Given the description of an element on the screen output the (x, y) to click on. 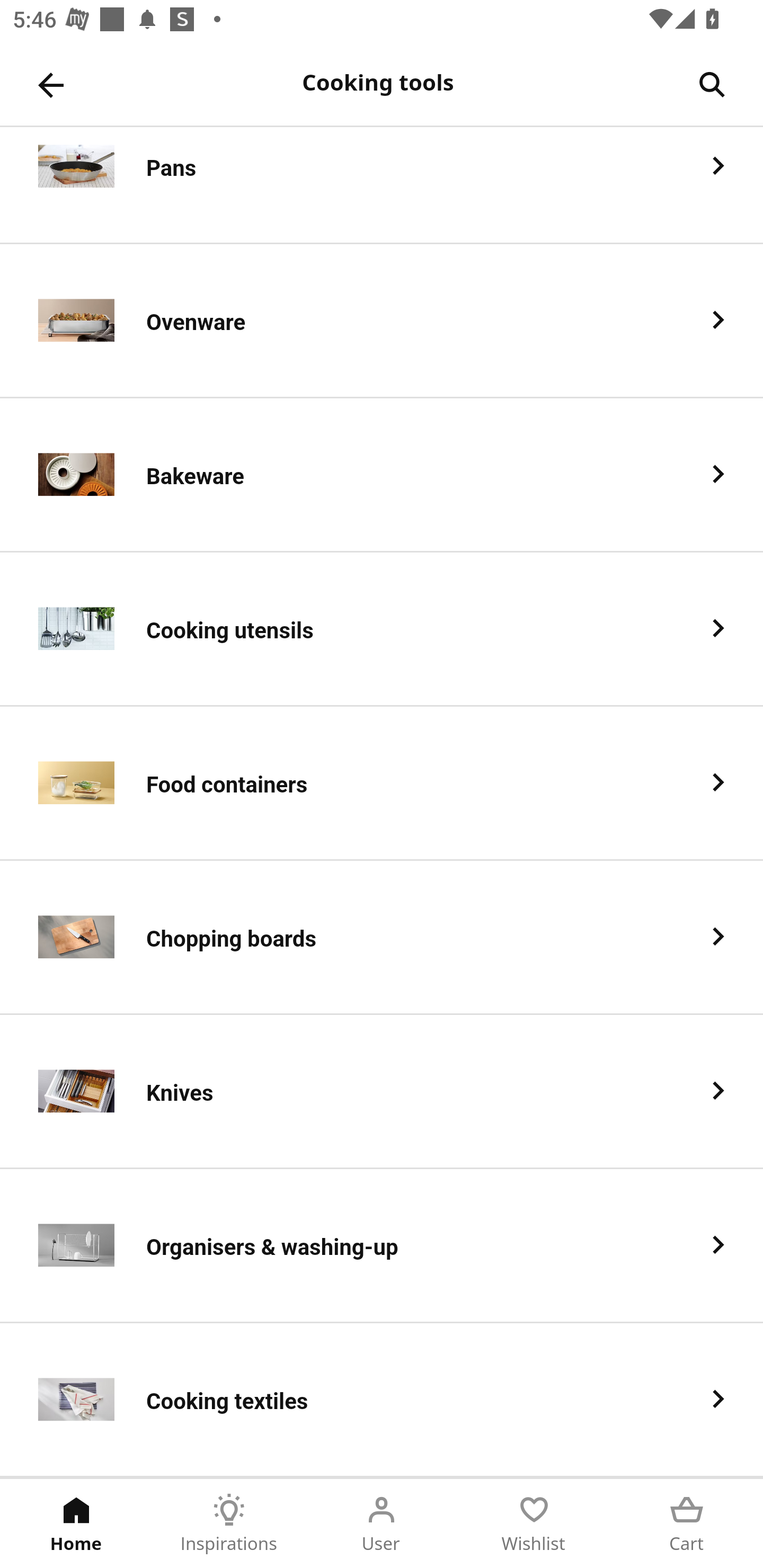
Pans (381, 185)
Ovenware (381, 321)
Bakeware (381, 474)
Cooking utensils (381, 629)
Food containers (381, 783)
Chopping boards (381, 937)
Knives (381, 1091)
Organisers & washing-up (381, 1246)
Cooking textiles (381, 1400)
Home
Tab 1 of 5 (76, 1522)
Inspirations
Tab 2 of 5 (228, 1522)
User
Tab 3 of 5 (381, 1522)
Wishlist
Tab 4 of 5 (533, 1522)
Cart
Tab 5 of 5 (686, 1522)
